Given the description of an element on the screen output the (x, y) to click on. 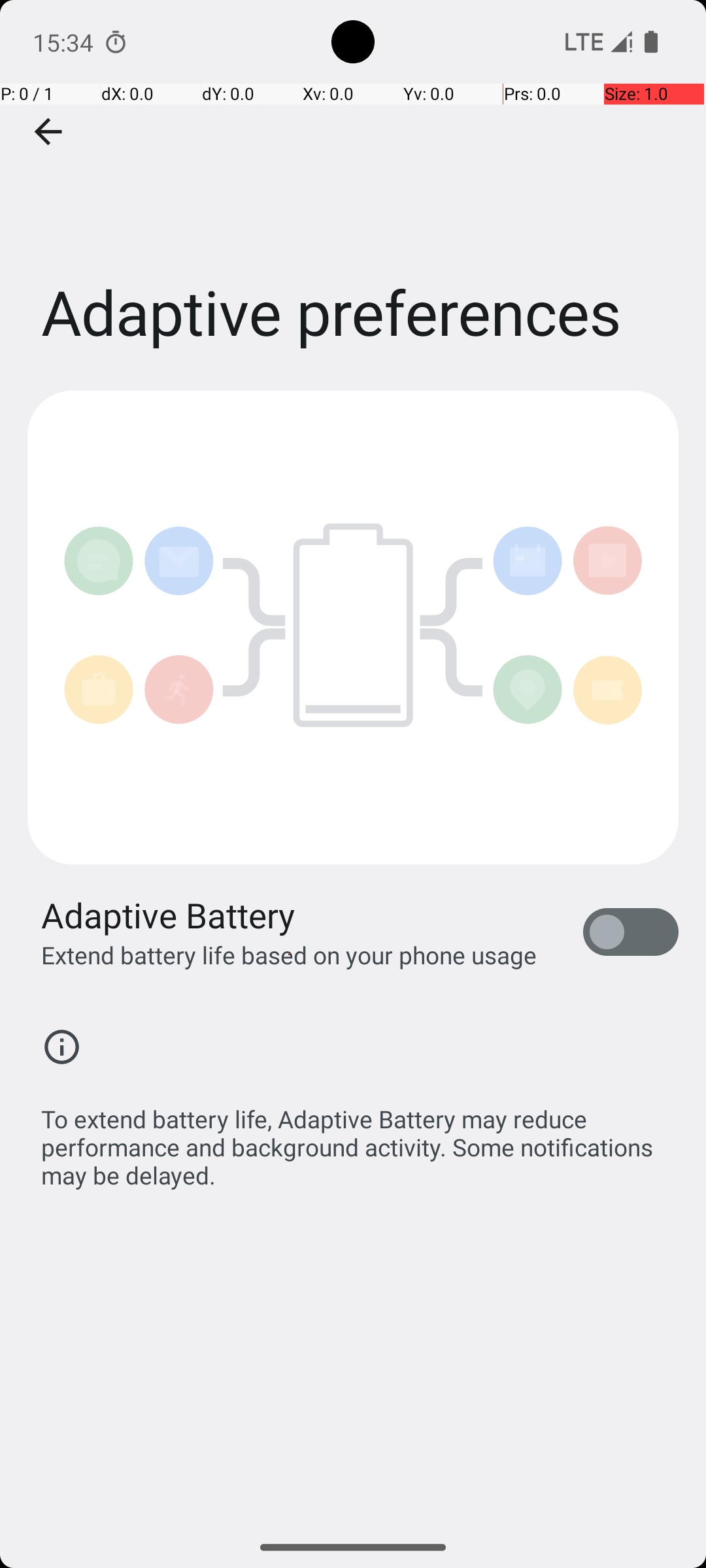
Adaptive Battery Element type: android.widget.TextView (168, 914)
Extend battery life based on your phone usage Element type: android.widget.TextView (288, 954)
To extend battery life, Adaptive Battery may reduce performance and background activity. Some notifications may be delayed. Element type: android.widget.TextView (359, 1139)
